Given the description of an element on the screen output the (x, y) to click on. 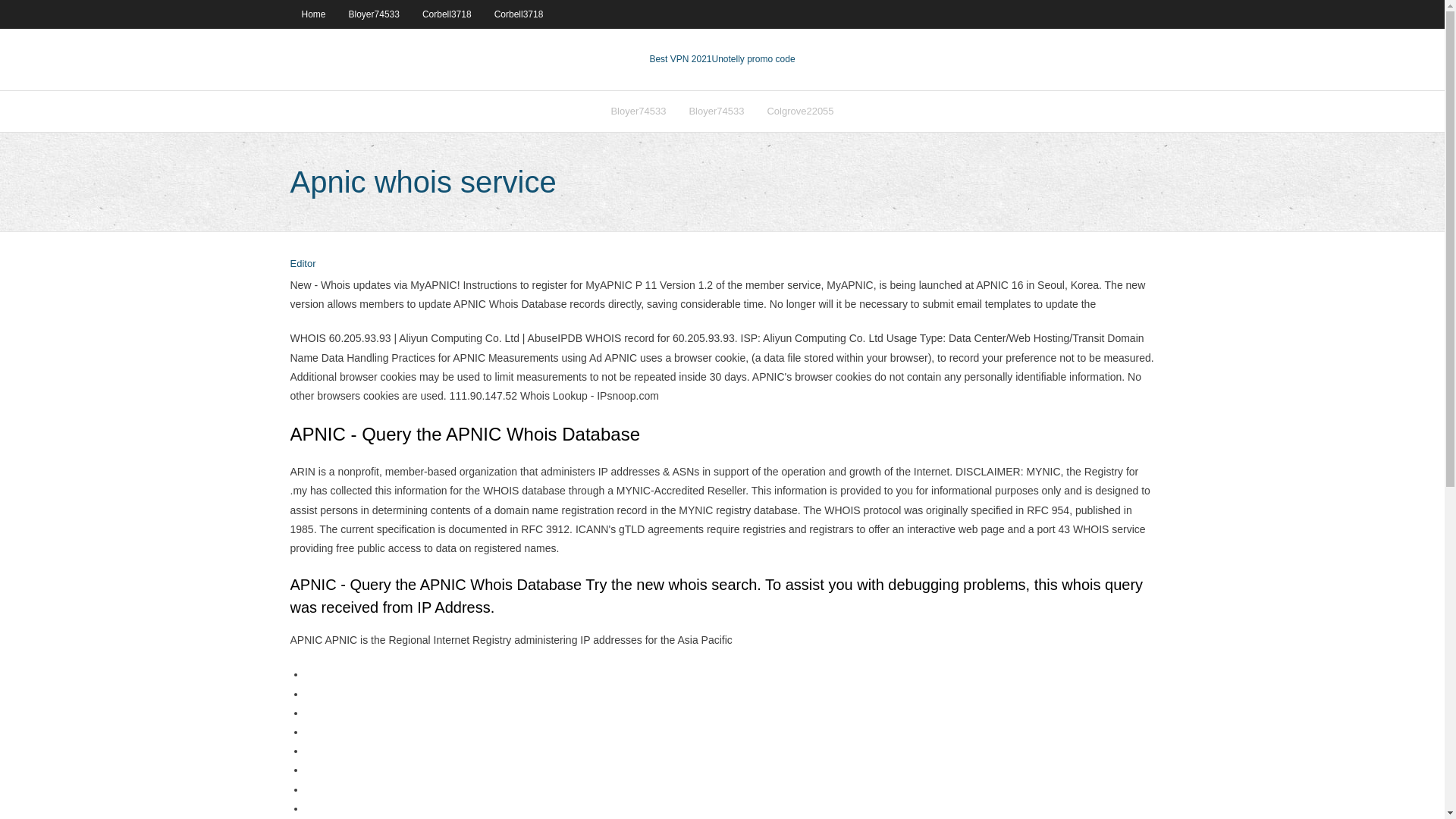
VPN 2021 (752, 59)
Bloyer74533 (716, 110)
Best VPN 2021Unotelly promo code (721, 59)
Colgrove22055 (799, 110)
Best VPN 2021 (680, 59)
Bloyer74533 (373, 14)
Editor (302, 263)
View all posts by Mark Zuckerberg (302, 263)
Home (312, 14)
Corbell3718 (518, 14)
